Given the description of an element on the screen output the (x, y) to click on. 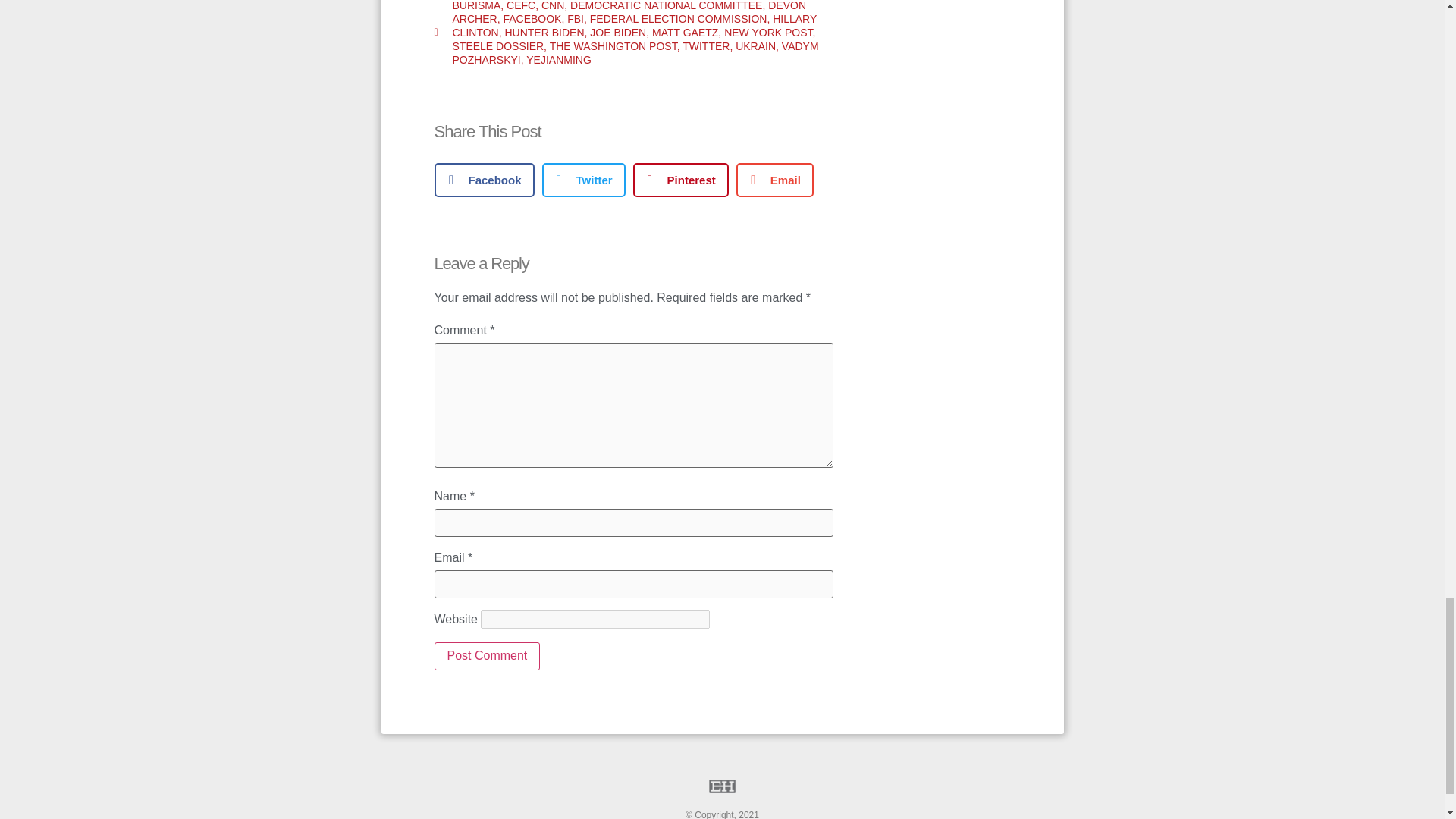
MATT GAETZ (684, 32)
FACEBOOK (531, 19)
CNN (552, 5)
DEVON ARCHER (628, 12)
Post Comment (486, 655)
NEW YORK POST (767, 32)
CEFC (520, 5)
FEDERAL ELECTION COMMISSION (678, 19)
JOE BIDEN (617, 32)
HUNTER BIDEN (543, 32)
